Given the description of an element on the screen output the (x, y) to click on. 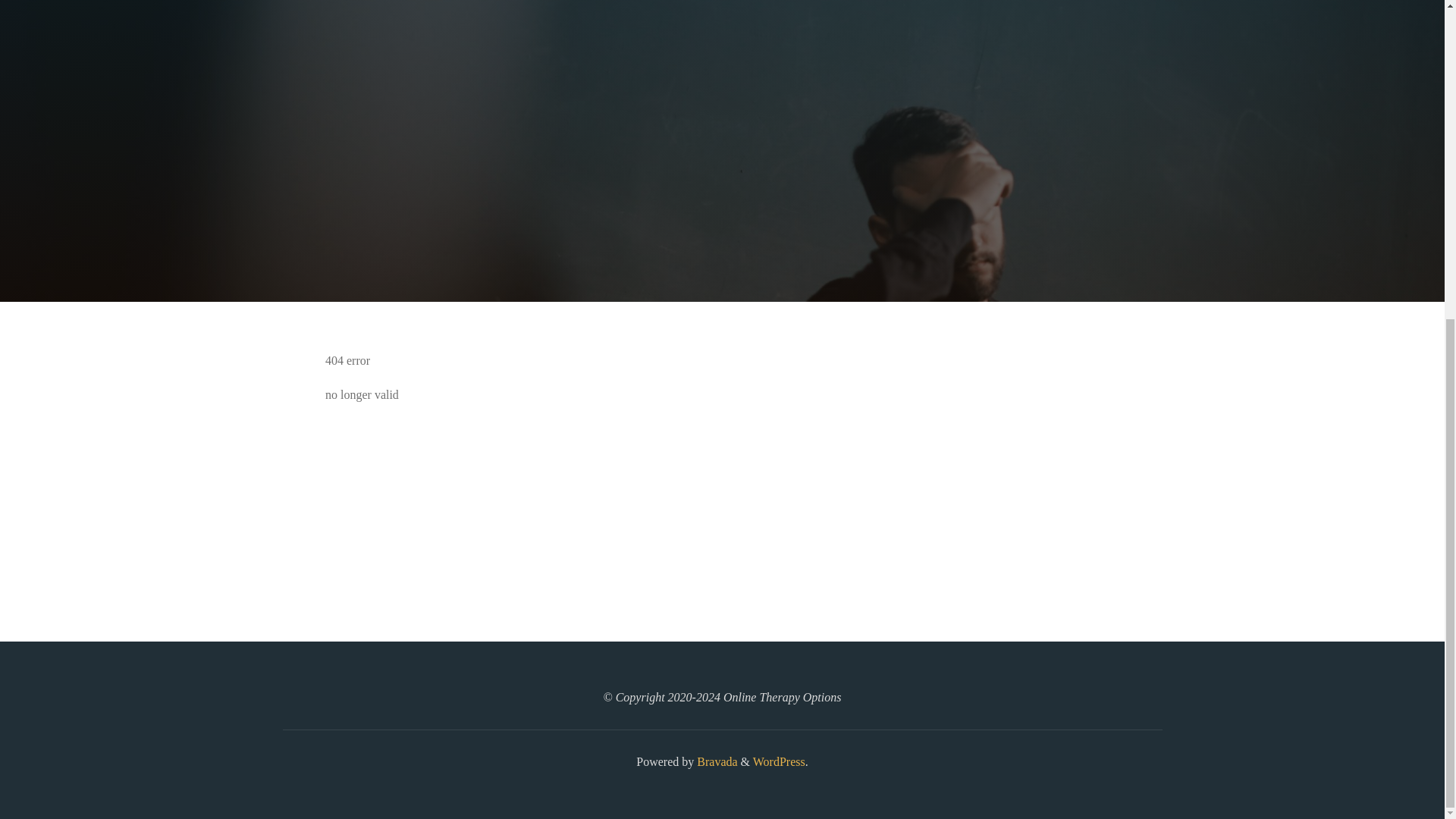
Read more (721, 207)
Semantic Personal Publishing Platform (778, 761)
WordPress (778, 761)
Bravada WordPress Theme by Cryout Creations (715, 761)
Bravada (715, 761)
